Given the description of an element on the screen output the (x, y) to click on. 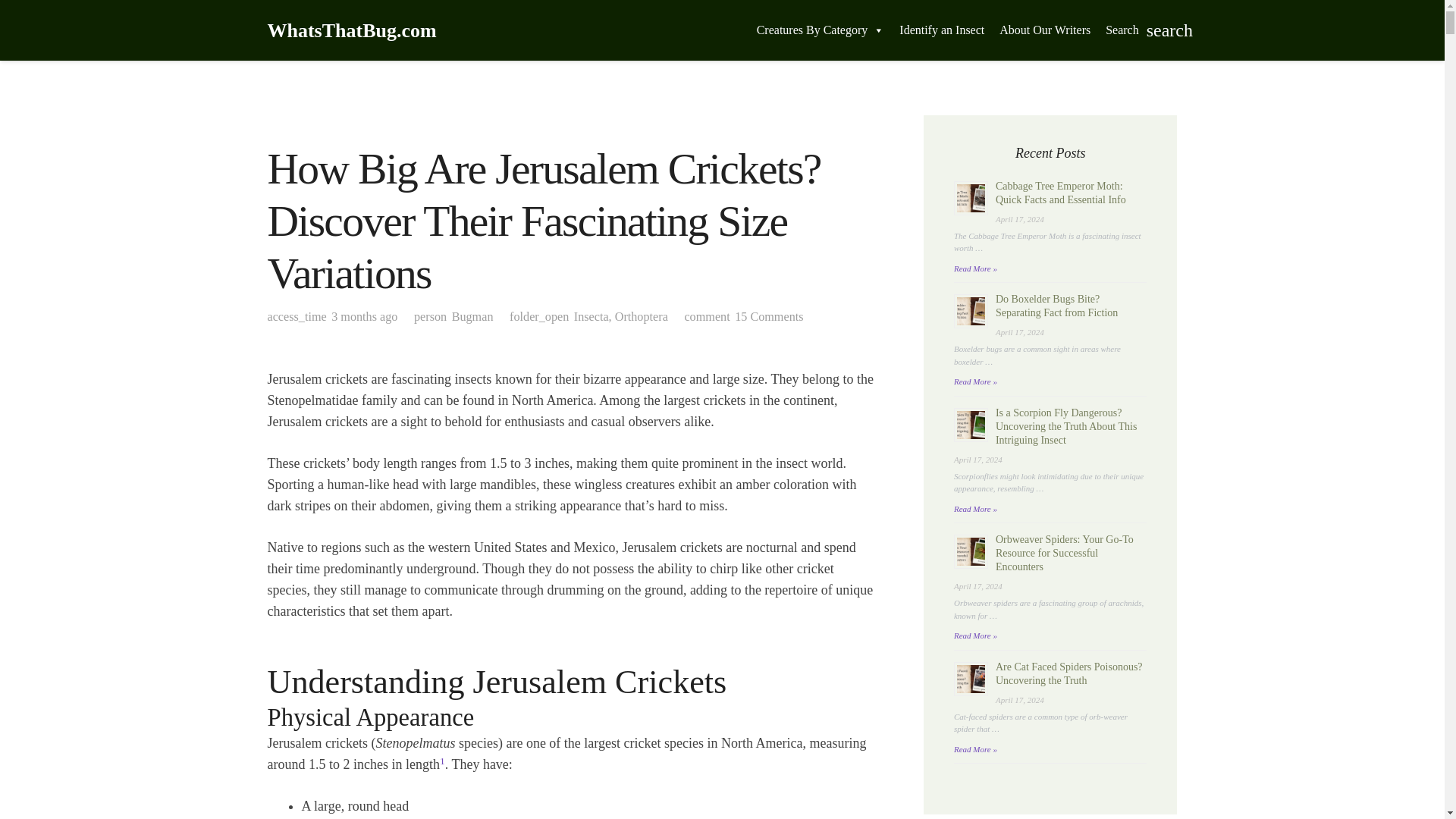
WhatsThatBug.com (350, 30)
Creatures By Category (820, 30)
15 Comments (769, 316)
